Given the description of an element on the screen output the (x, y) to click on. 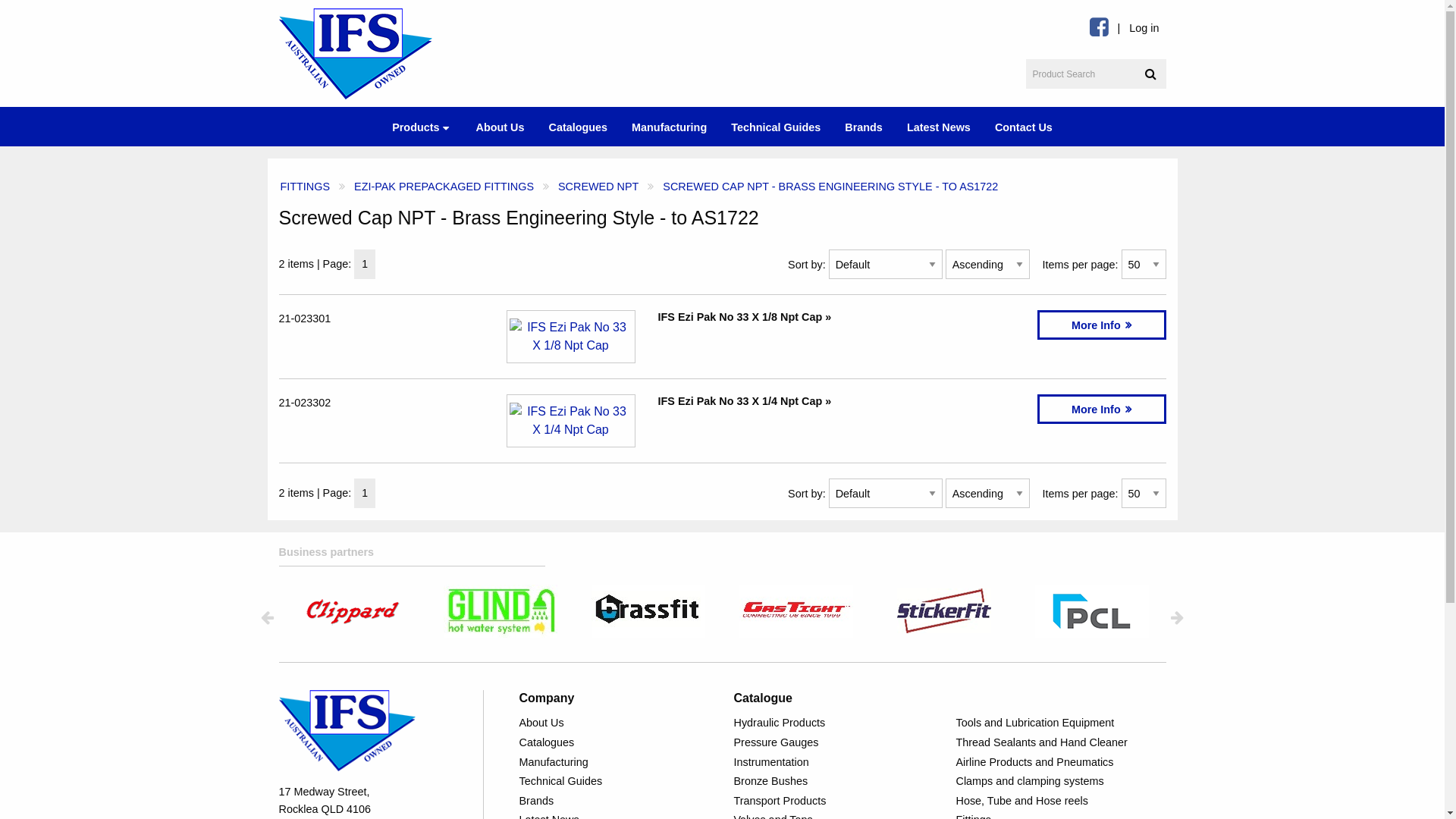
About Us Element type: text (614, 723)
Transport Products Element type: text (839, 800)
EZI-PAK PREPACKAGED FITTINGS Element type: text (443, 186)
More Info Element type: text (1101, 408)
Manufacturing Element type: text (614, 761)
Airline Products and Pneumatics Element type: text (1060, 761)
Products Element type: text (421, 126)
Latest News Element type: text (938, 125)
Instrumentation Element type: text (839, 761)
Pressure Gauges Element type: text (839, 742)
Technical Guides Element type: text (614, 781)
Business partners Element type: text (722, 555)
SCREWED CAP NPT - BRASS ENGINEERING STYLE - TO AS1722 Element type: text (829, 186)
FITTINGS Element type: text (305, 186)
Previous Element type: text (266, 616)
Next Element type: text (1176, 616)
More Info Element type: text (1101, 324)
Catalogues Element type: text (614, 742)
Manufacturing Element type: text (668, 125)
Catalogues Element type: text (577, 125)
Clamps and clamping systems Element type: text (1060, 781)
Brands Element type: text (614, 800)
Contact Us Element type: text (1023, 125)
Thread Sealants and Hand Cleaner Element type: text (1060, 742)
Hydraulic Products Element type: text (839, 723)
Tools and Lubrication Equipment Element type: text (1060, 723)
Hose, Tube and Hose reels Element type: text (1060, 800)
Brands Element type: text (863, 125)
Technical Guides Element type: text (775, 125)
About Us Element type: text (500, 125)
21-023301 Element type: text (305, 318)
Bronze Bushes Element type: text (839, 781)
21-023302 Element type: text (305, 402)
SCREWED NPT Element type: text (598, 186)
Log in Element type: text (1143, 28)
